Given the description of an element on the screen output the (x, y) to click on. 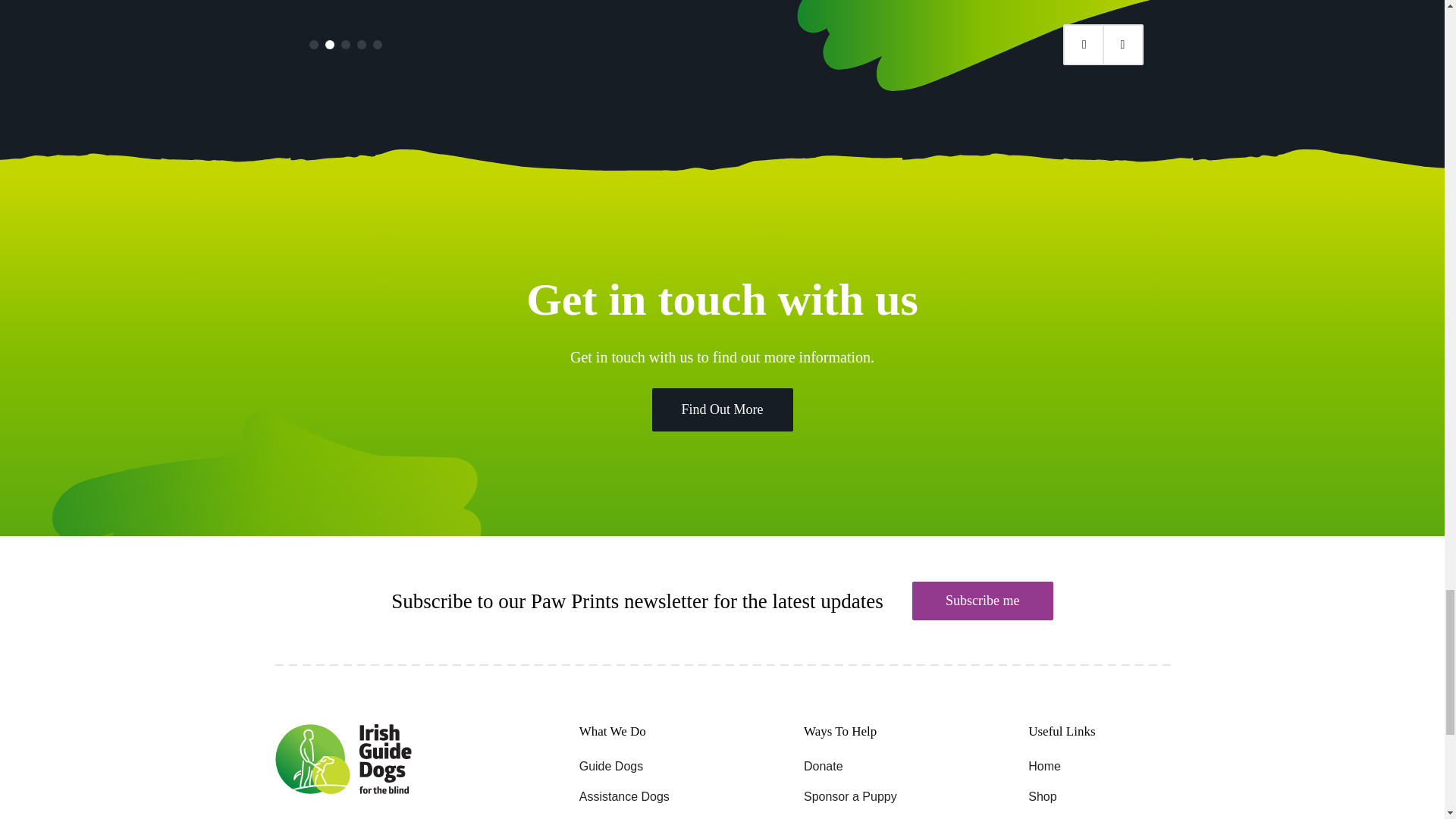
Page 3 (345, 44)
Page 1 (313, 44)
Page 4 (360, 44)
Page 2 (328, 44)
Page 5 (376, 44)
